Given the description of an element on the screen output the (x, y) to click on. 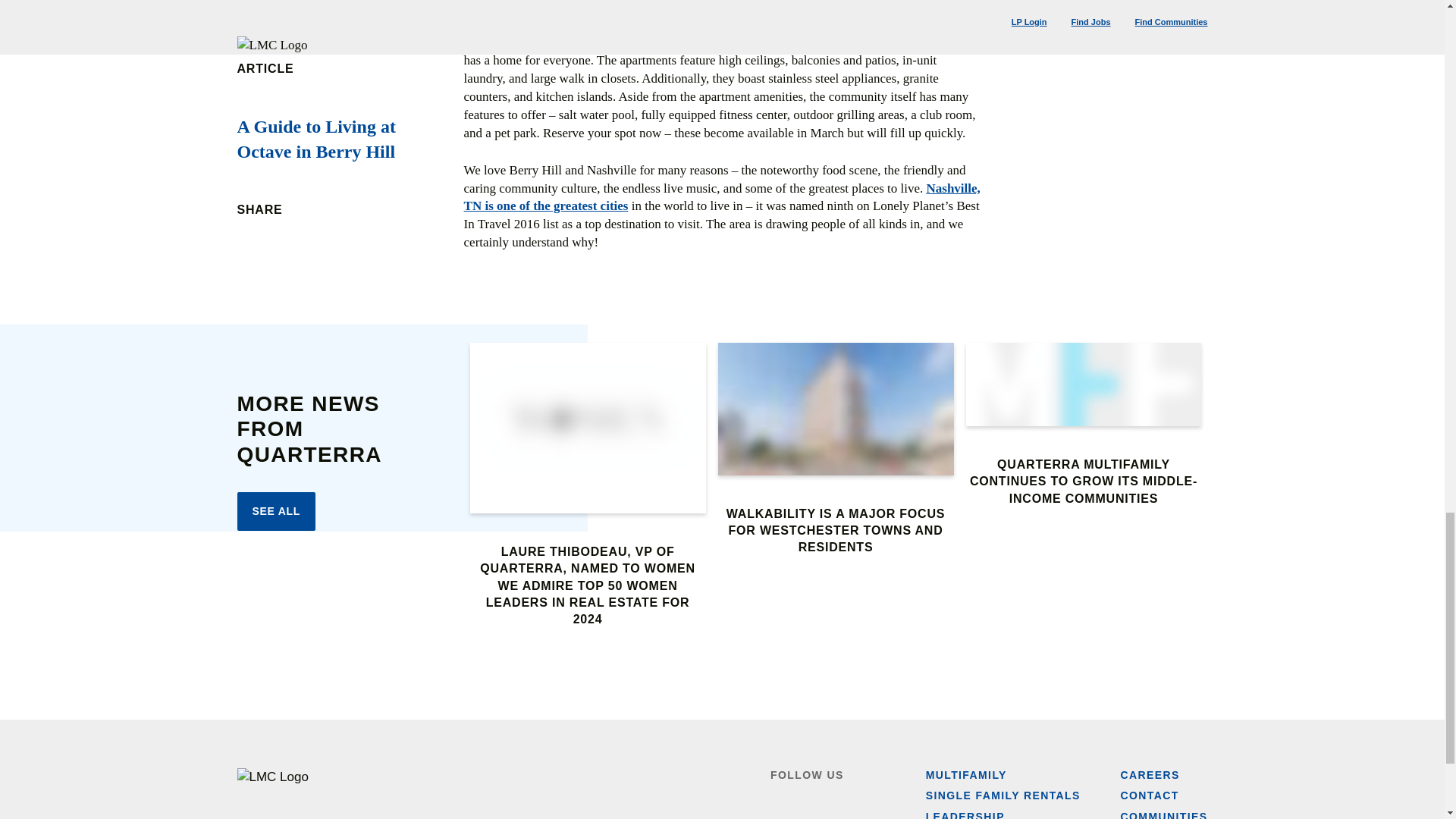
Nashville, TN is one of the greatest cities (721, 196)
LEADERSHIP (965, 814)
CAREERS (1150, 775)
SINGLE FAMILY RENTALS (1003, 795)
Octave apartments (538, 24)
CONTACT (1150, 795)
SEE ALL (275, 511)
MULTIFAMILY (966, 775)
COMMUNITIES (1164, 814)
